Given the description of an element on the screen output the (x, y) to click on. 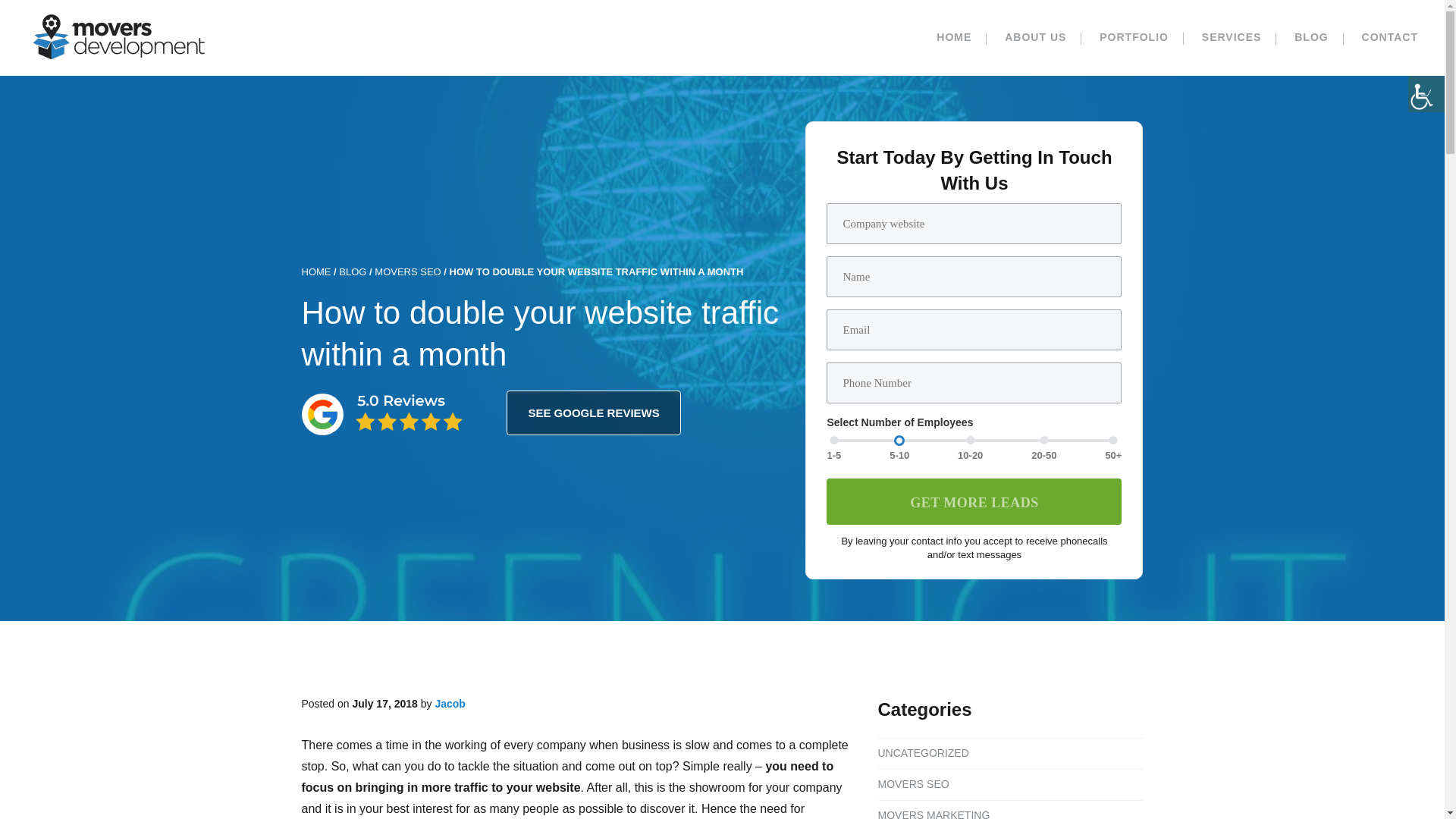
BLOG (1310, 37)
10-20 (971, 439)
1-5 (834, 439)
BLOG (352, 271)
20-50 (1043, 439)
HOME (954, 37)
ABOUT US (1035, 37)
5-10 (899, 439)
Jacob (448, 703)
SEE GOOGLE REVIEWS (592, 412)
SERVICES (1231, 37)
July 17, 2018 (384, 703)
HOME (316, 271)
Get More Leads (974, 501)
PORTFOLIO (1133, 37)
